Given the description of an element on the screen output the (x, y) to click on. 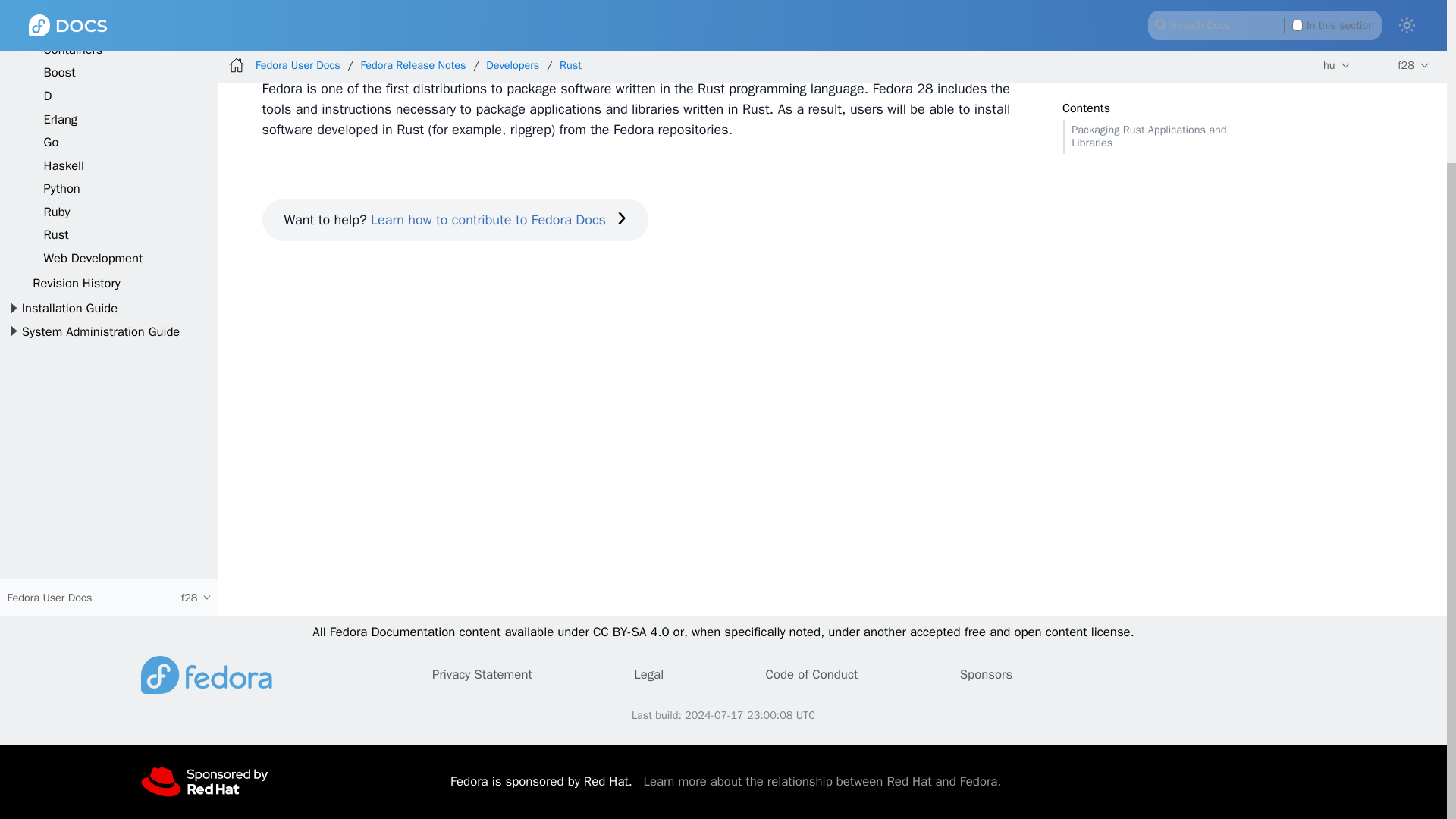
Go (51, 141)
Haskell (63, 165)
Containers (73, 49)
Python (61, 188)
Rust (55, 234)
Web Development (92, 258)
Boost (59, 72)
Erlang (60, 119)
Development Tools (95, 5)
C (46, 26)
Ruby (56, 211)
Revision History (75, 283)
Installation Guide (69, 308)
D (47, 95)
